Given the description of an element on the screen output the (x, y) to click on. 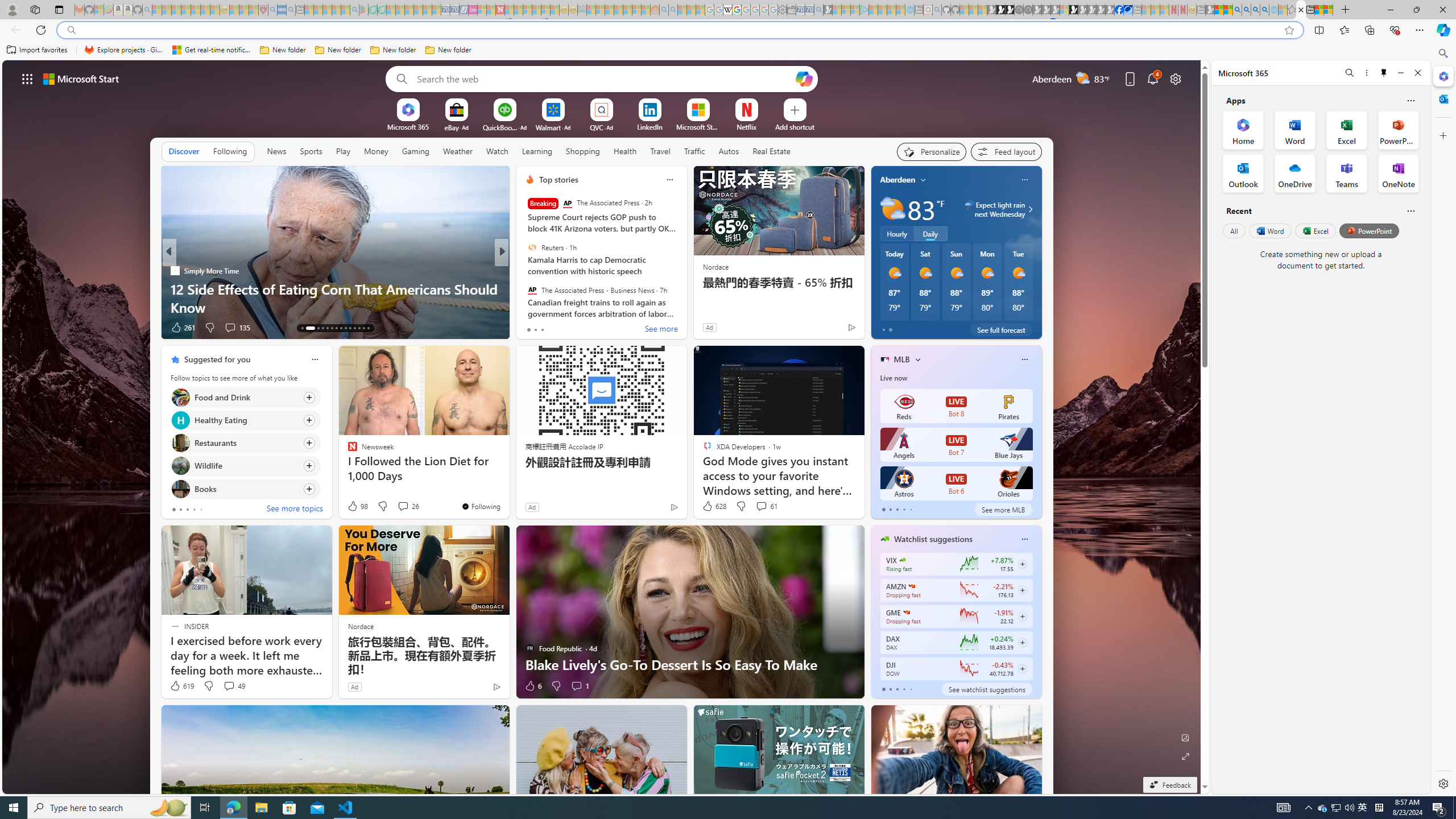
Excel Office App (1346, 129)
Astros LIVE Bot 6 Orioles (955, 483)
Word Office App (1295, 129)
Reds LIVE Bot 8 Pirates (955, 406)
The Best Time to Go to Bed According to Your Age (684, 307)
Word (1269, 230)
364 Like (532, 327)
Import favorites (36, 49)
View comments 67 Comment (576, 327)
